Given the description of an element on the screen output the (x, y) to click on. 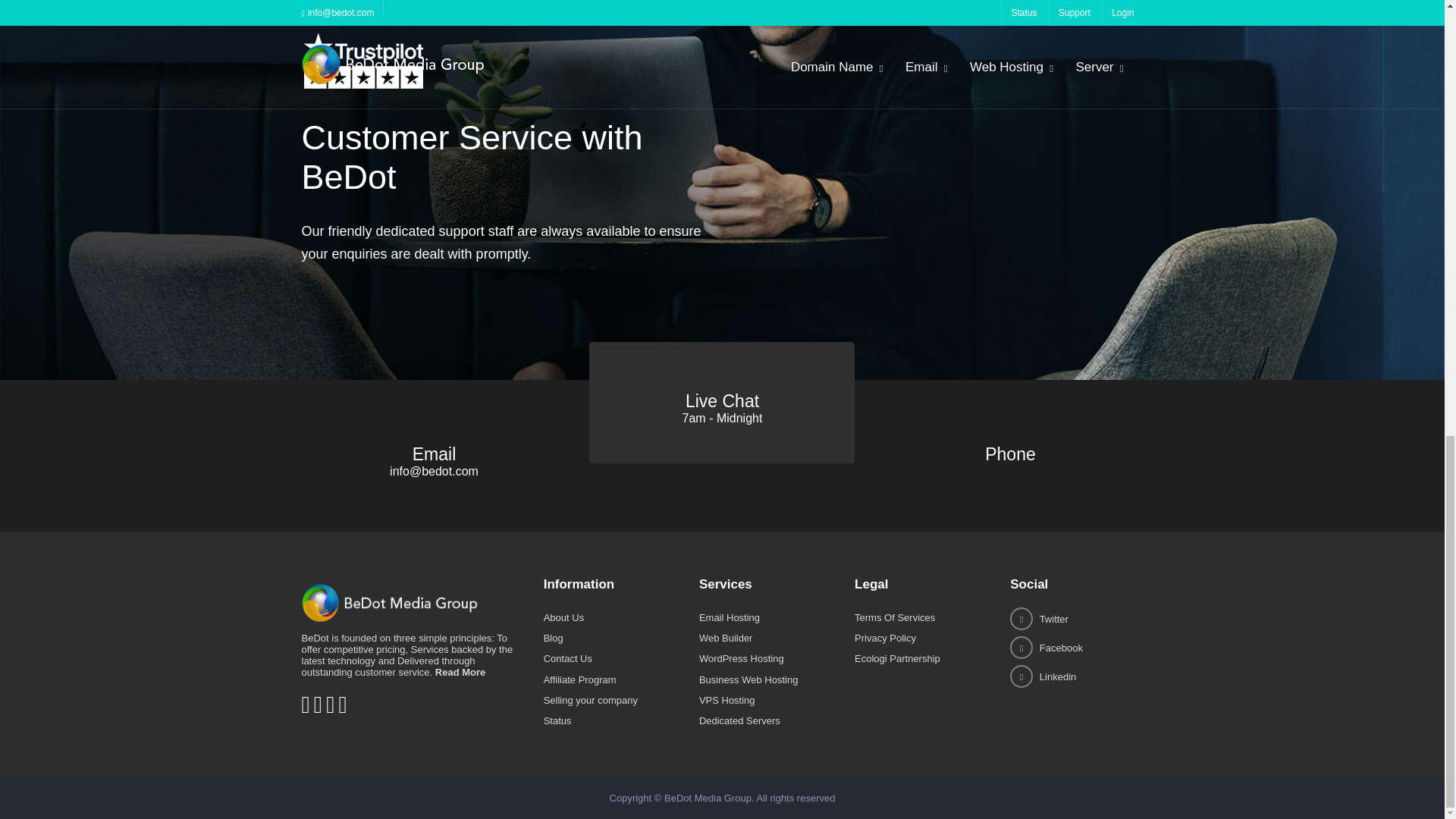
Read More (459, 672)
Blog (553, 637)
Selling your company (590, 699)
Affiliate Program (579, 679)
About Us (563, 617)
7am - Midnight (722, 418)
Contact Us (567, 658)
